Given the description of an element on the screen output the (x, y) to click on. 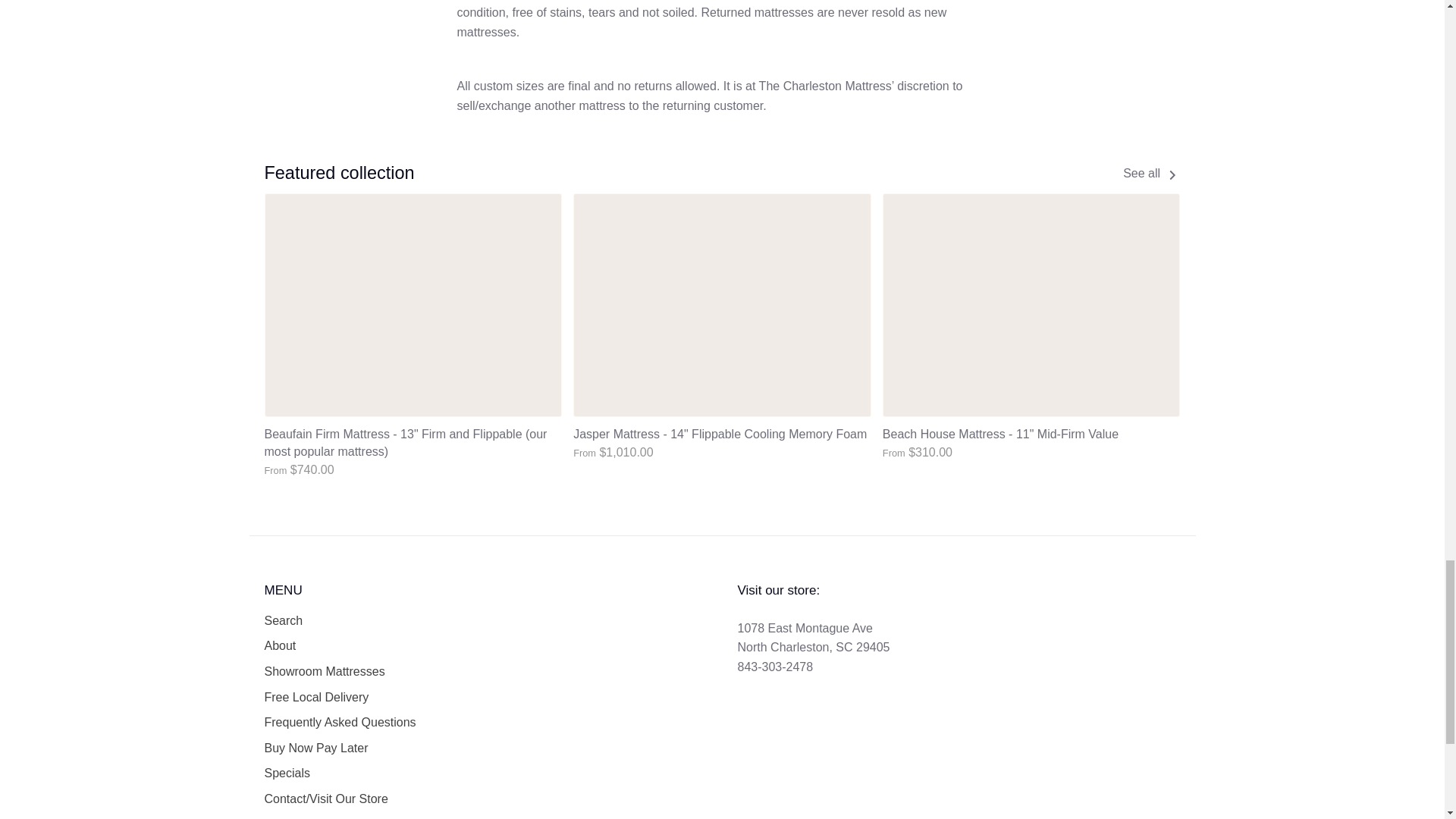
About (279, 646)
Free Local Delivery (315, 697)
Featured collection (338, 172)
See all (1150, 173)
Showroom Mattresses (323, 671)
Search (282, 620)
